Given the description of an element on the screen output the (x, y) to click on. 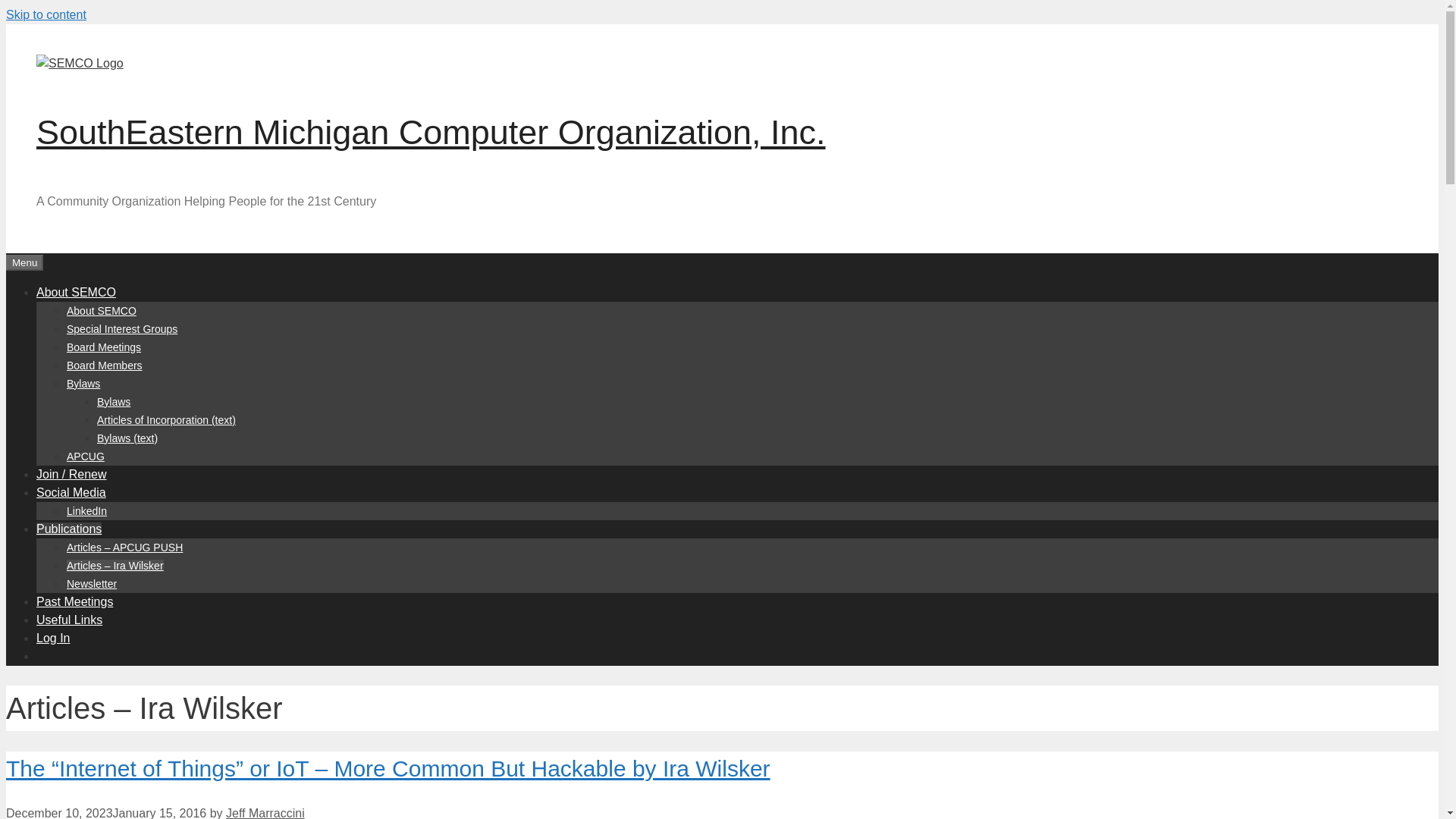
Board Members (104, 365)
Skip to content (45, 14)
About SEMCO (76, 291)
Menu (24, 262)
Board Meetings (103, 346)
Newsletter (91, 583)
Bylaws (83, 383)
Log In (52, 636)
APCUG (85, 456)
View all posts by Jeff Marraccini (264, 812)
About SEMCO (101, 310)
SouthEastern Michigan Computer Organization, Inc. (430, 132)
Social Media (71, 491)
Publications (68, 527)
Useful Links (68, 618)
